Given the description of an element on the screen output the (x, y) to click on. 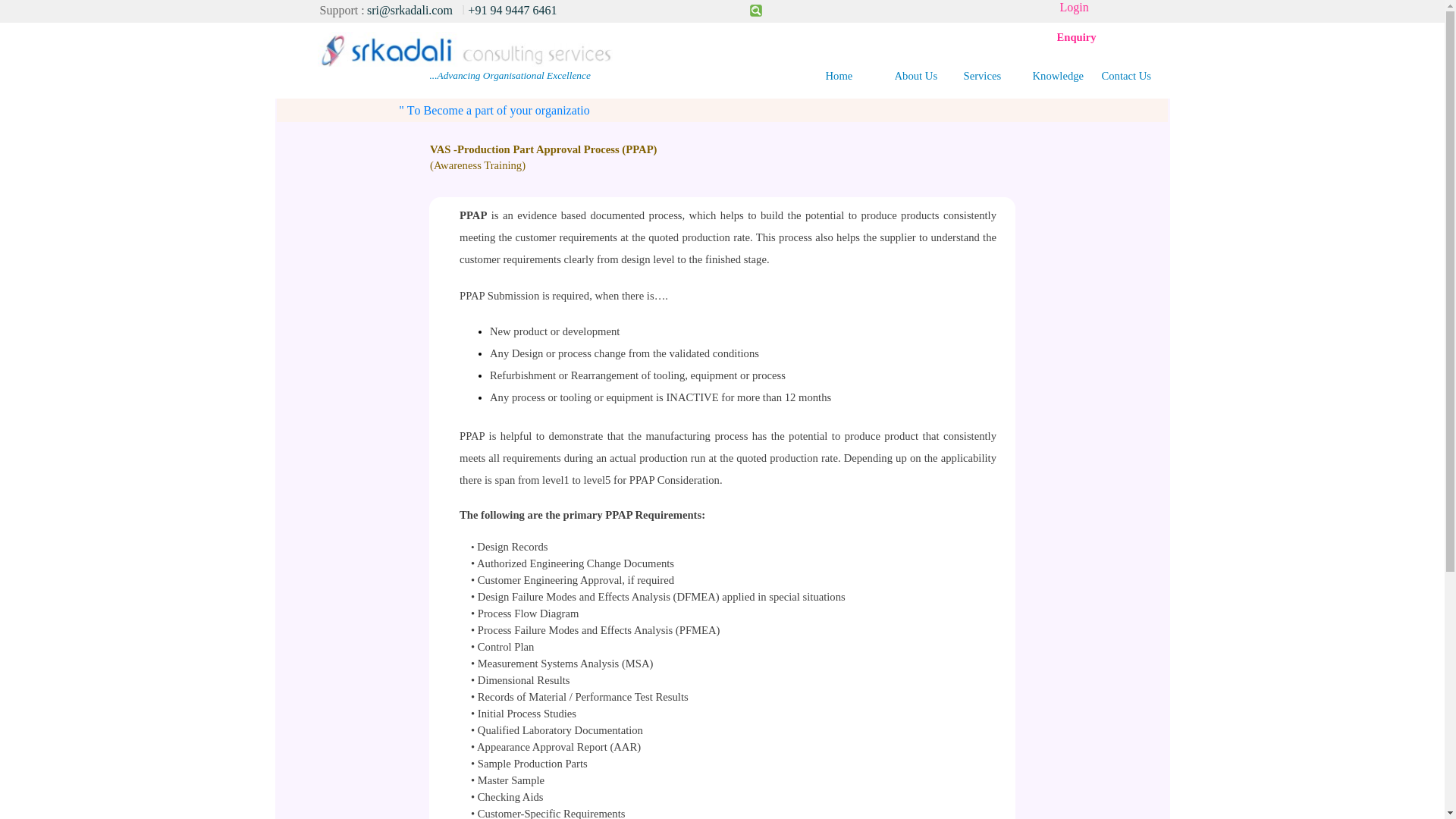
Login (1074, 6)
Home (859, 75)
Enquiry (1076, 37)
Services (996, 75)
About Us (928, 75)
Contact Us (1134, 75)
